Given the description of an element on the screen output the (x, y) to click on. 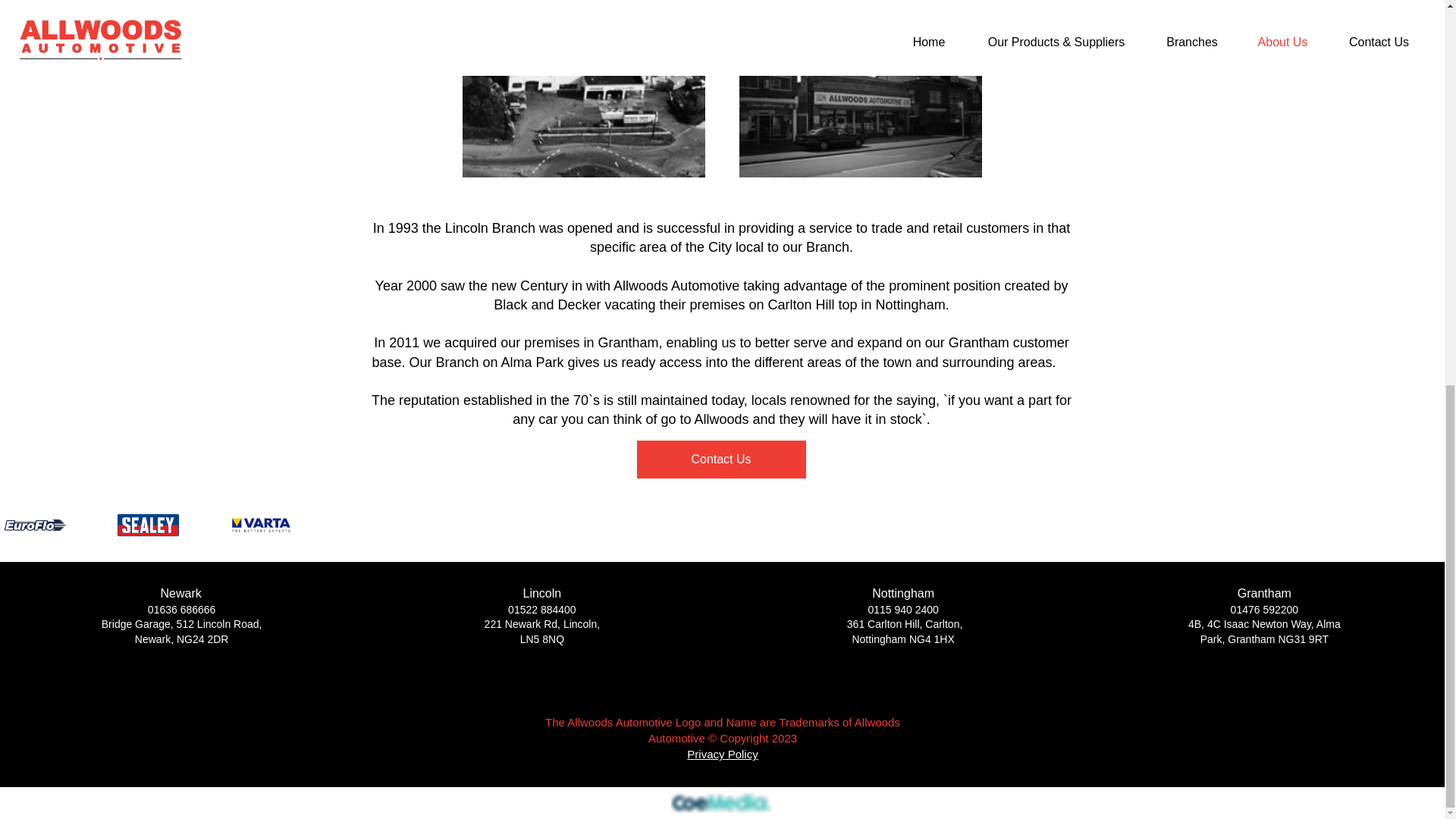
Contact Us (721, 459)
Privacy Policy (722, 753)
